Given the description of an element on the screen output the (x, y) to click on. 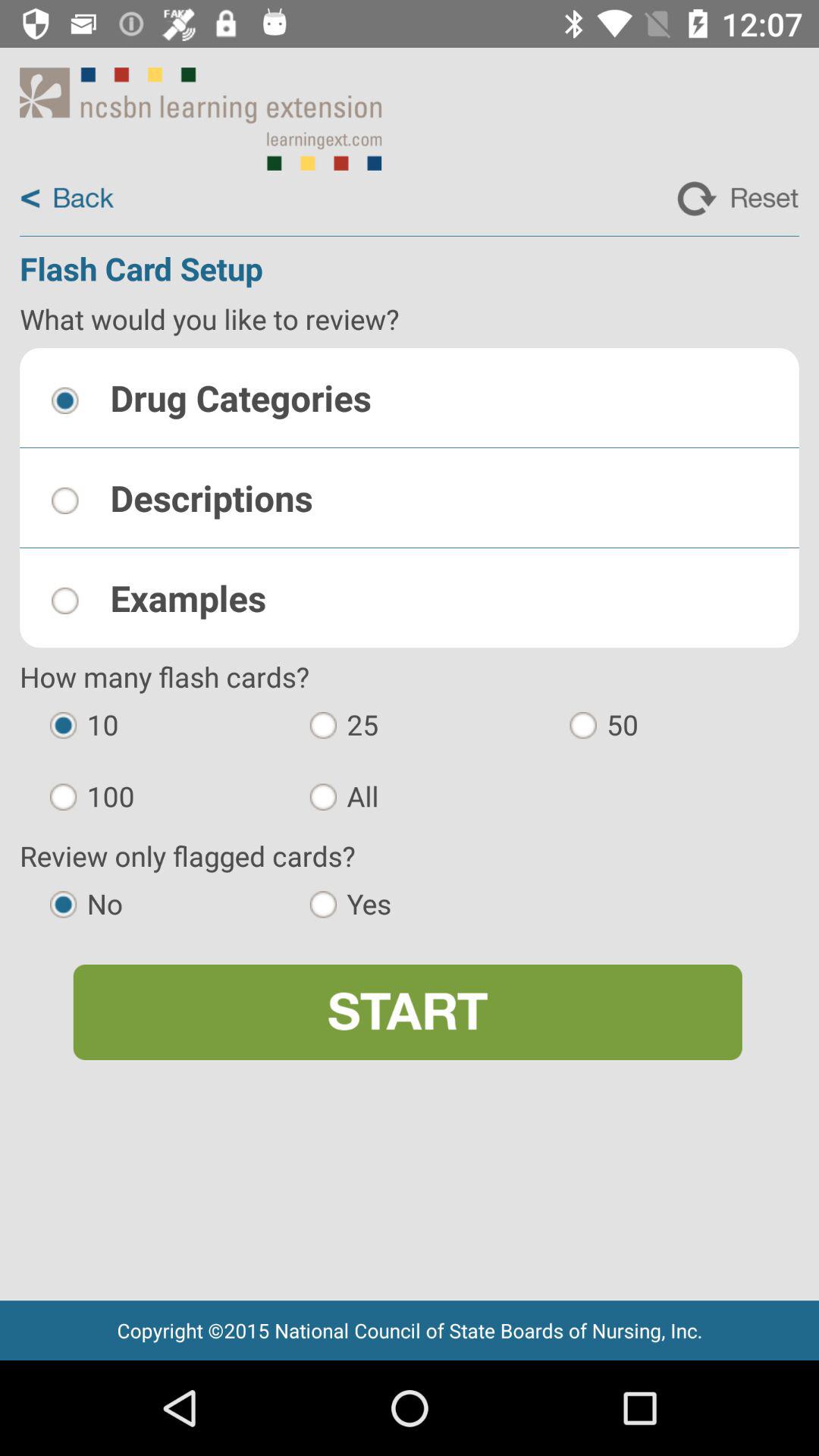
choose icon above copyright 2015 national (407, 1012)
